Given the description of an element on the screen output the (x, y) to click on. 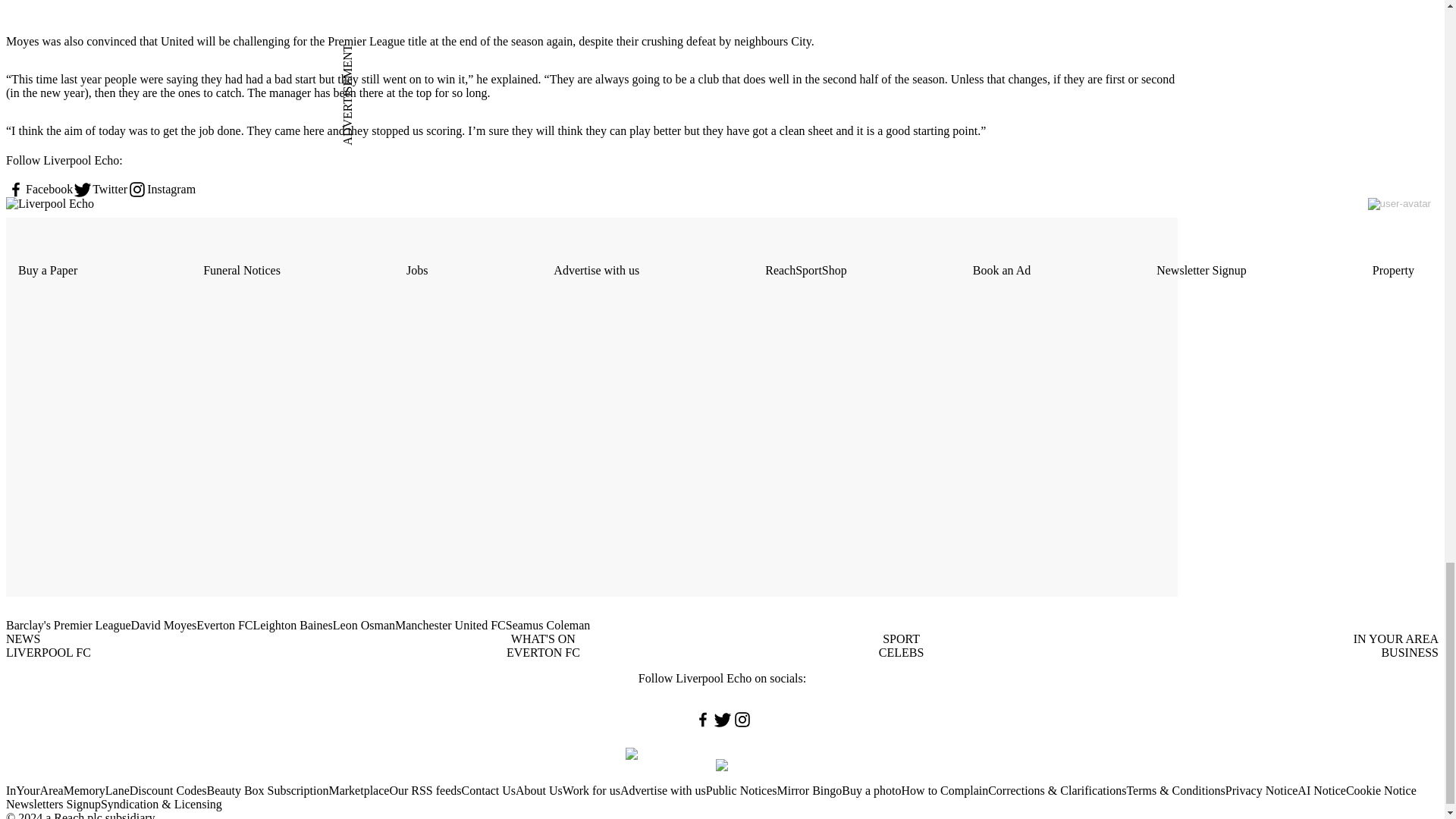
Instagram (161, 189)
Twitter (100, 189)
Facebook (38, 189)
